Given the description of an element on the screen output the (x, y) to click on. 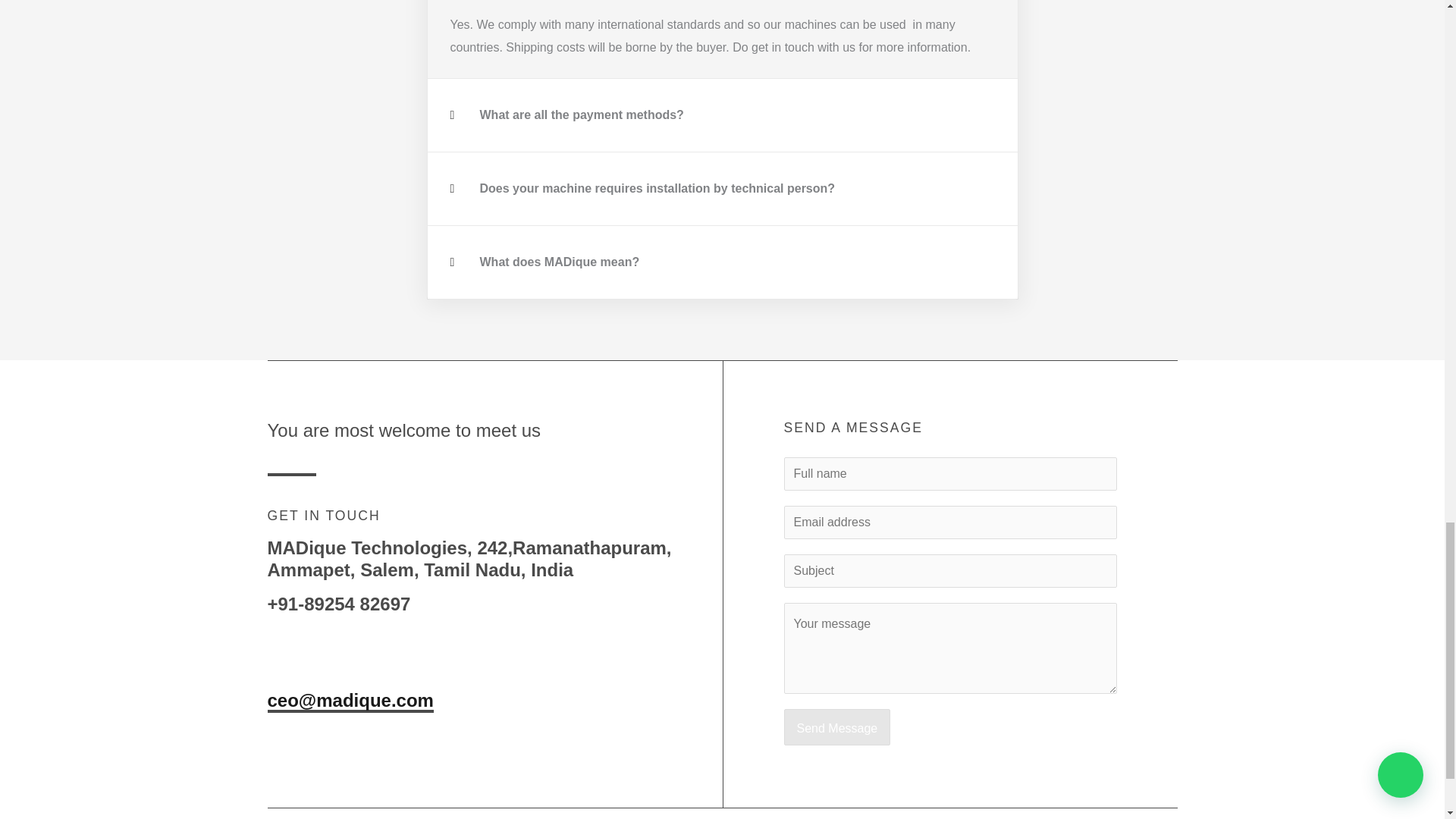
Does your machine requires installation by technical person? (656, 187)
What are all the payment methods? (580, 114)
